Given the description of an element on the screen output the (x, y) to click on. 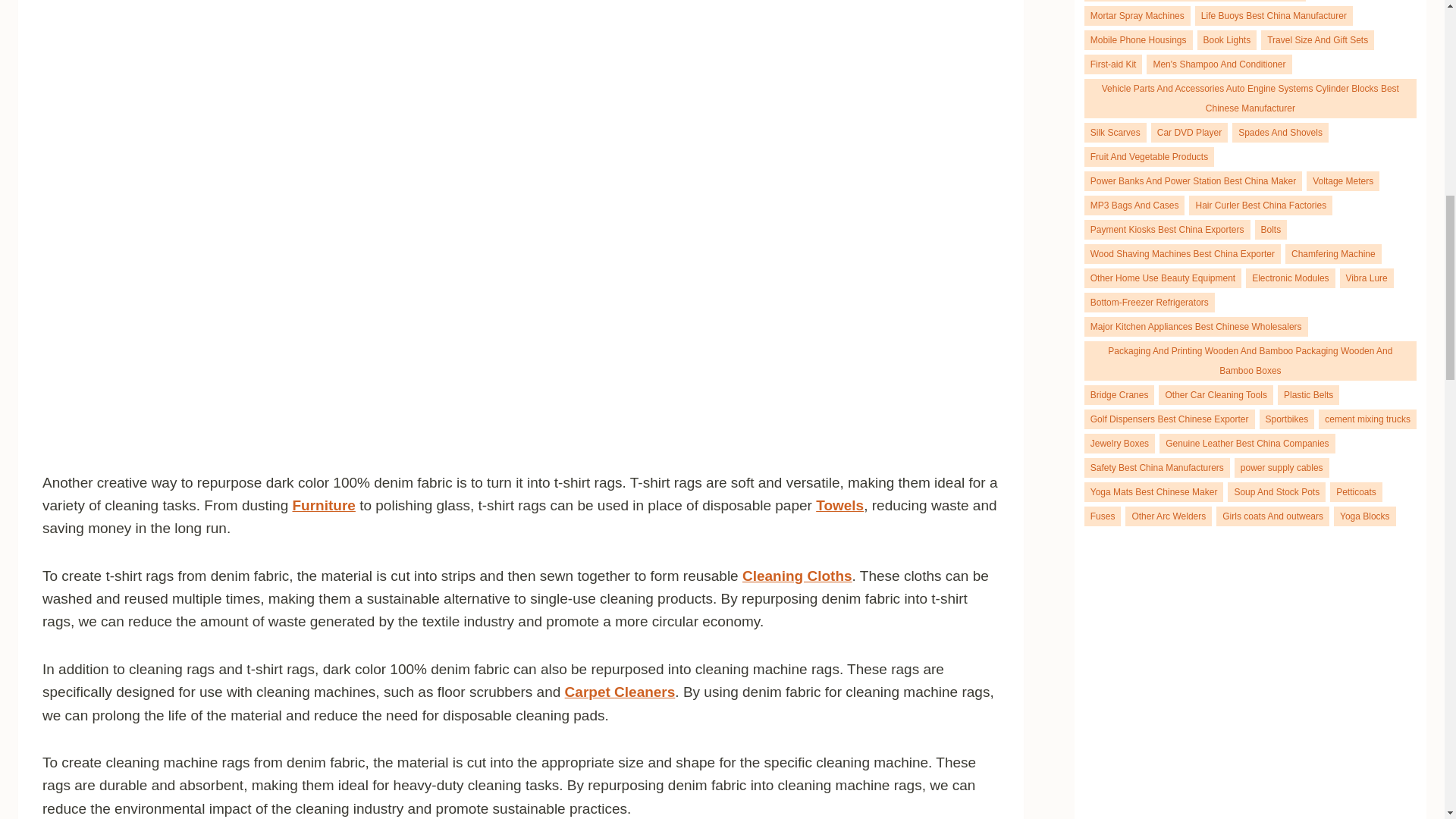
Furniture (323, 505)
